Given the description of an element on the screen output the (x, y) to click on. 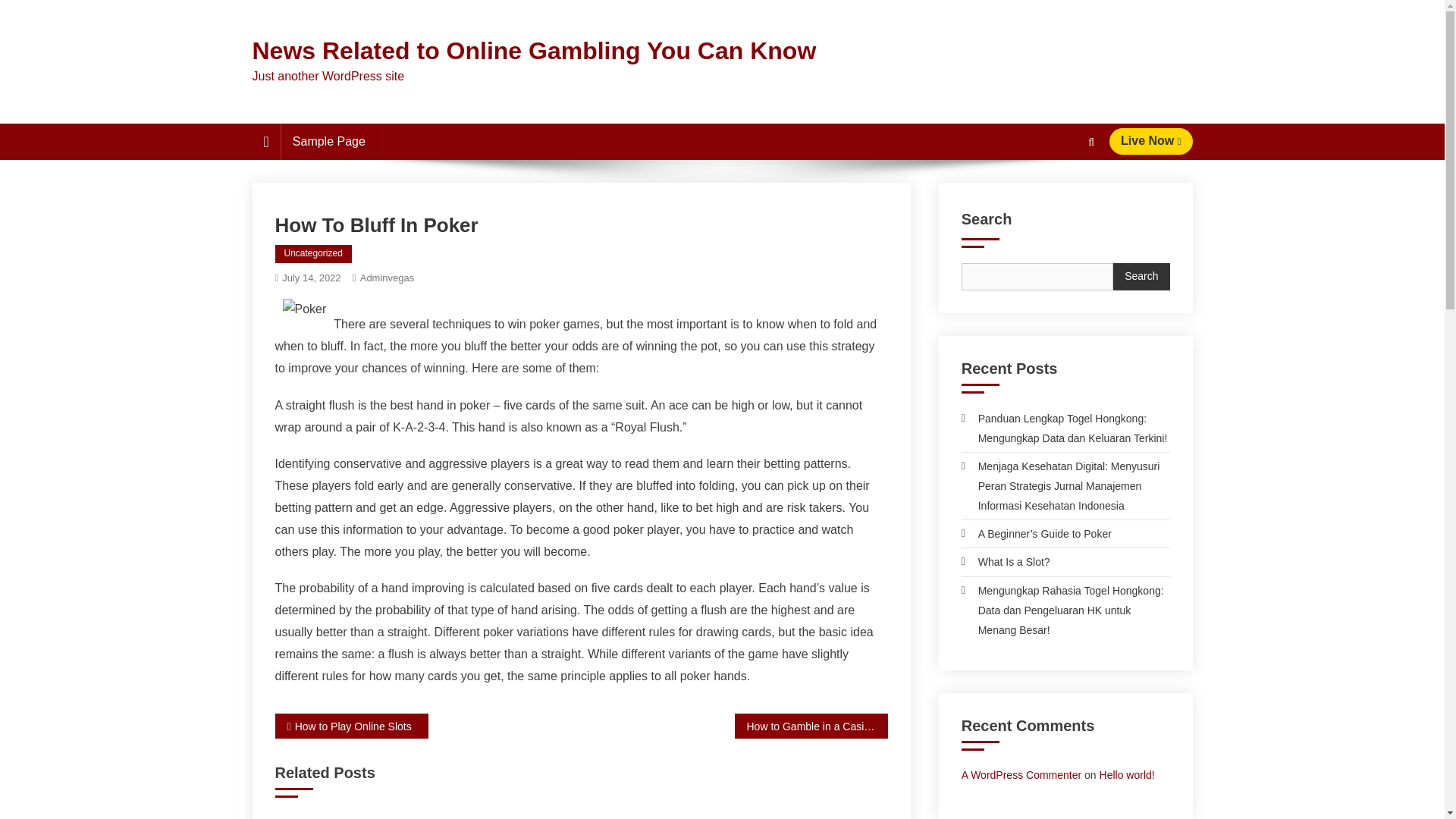
Hello world! (1126, 775)
Uncategorized (312, 253)
How to Play Online Slots (351, 725)
What Is a Slot? (1004, 561)
Live Now (1150, 140)
News Related to Online Gambling You Can Know (533, 50)
Search (1062, 196)
A WordPress Commenter (1020, 775)
Sample Page (329, 141)
Search (1141, 276)
How to Gamble in a Casino (809, 725)
Adminvegas (386, 277)
